Given the description of an element on the screen output the (x, y) to click on. 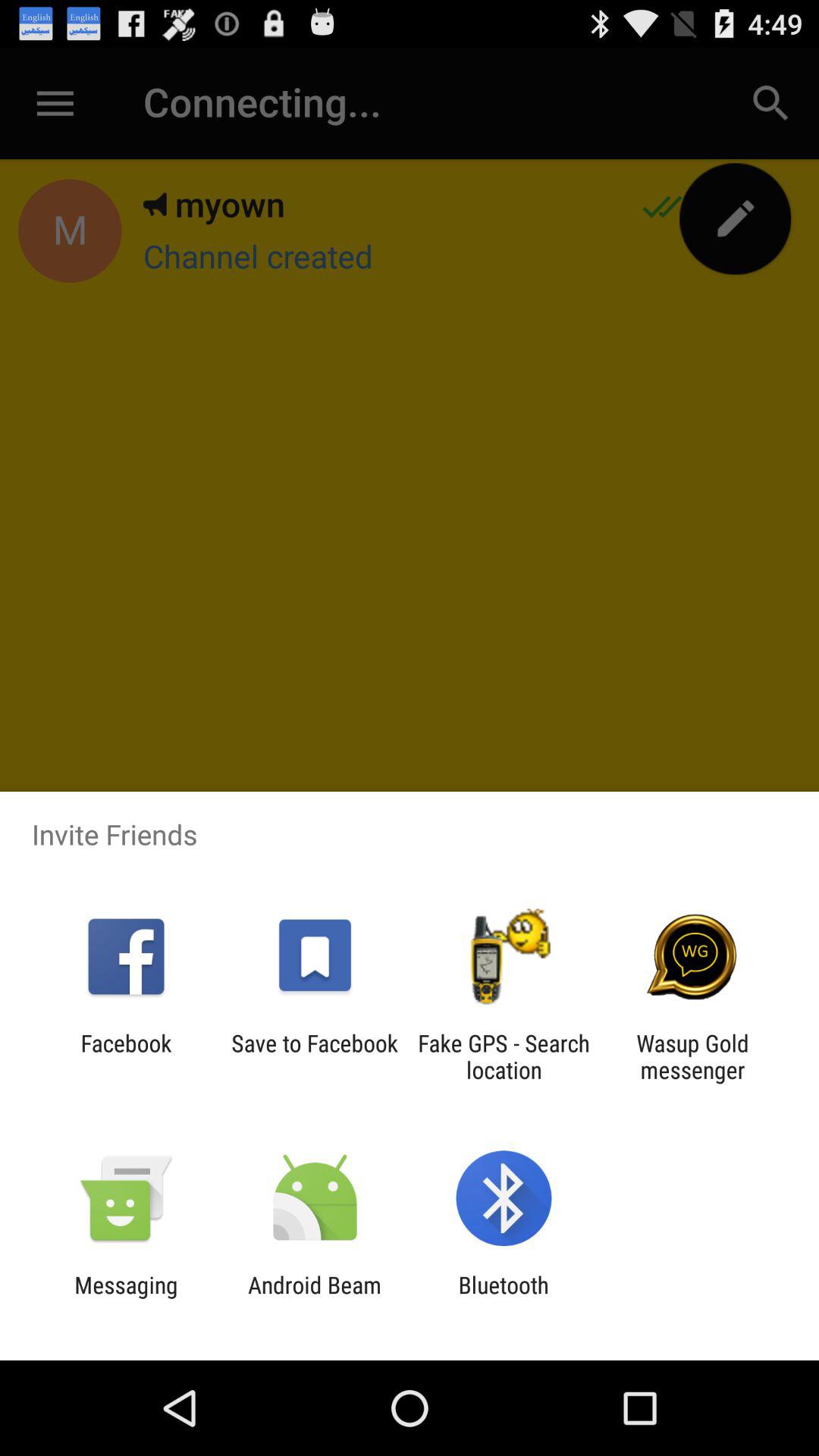
swipe to wasup gold messenger (692, 1056)
